Given the description of an element on the screen output the (x, y) to click on. 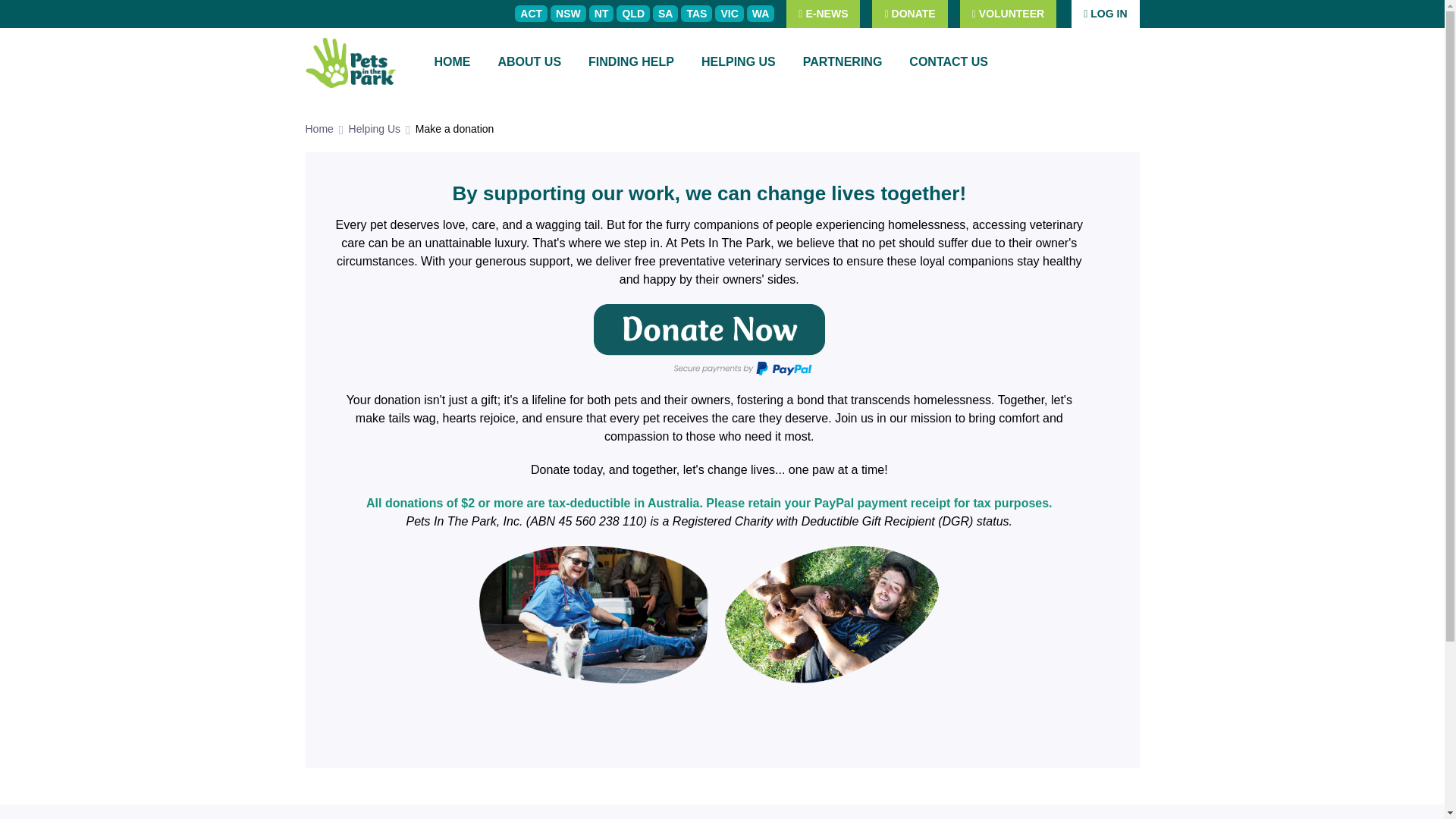
VIC (728, 13)
SA (665, 13)
ACT (531, 13)
QLD (632, 13)
HOME (451, 61)
NSW (568, 13)
DONATE (909, 13)
TAS (696, 13)
FINDING HELP (631, 61)
ABOUT US (529, 61)
